Given the description of an element on the screen output the (x, y) to click on. 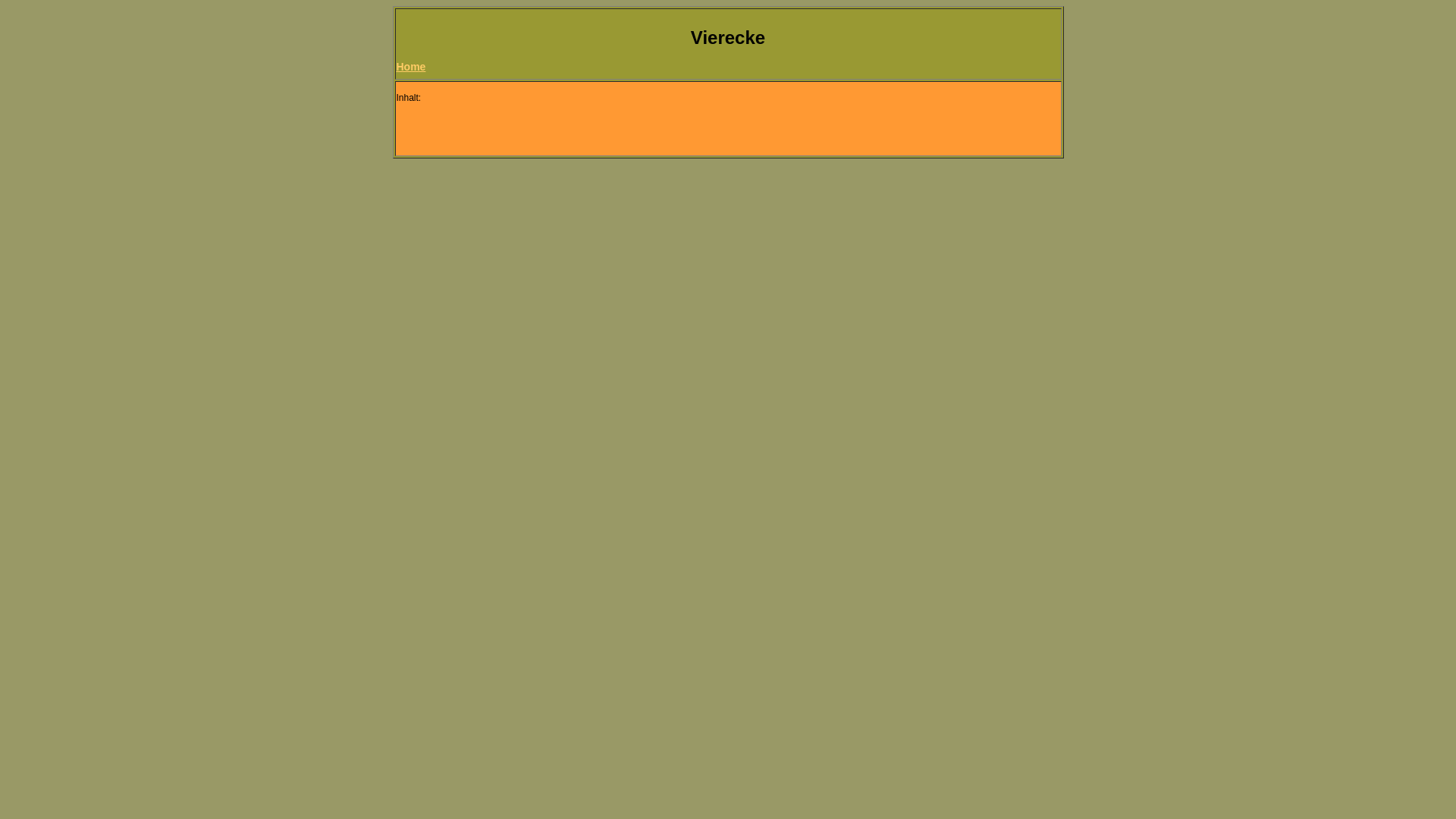
Home Element type: text (410, 66)
